Given the description of an element on the screen output the (x, y) to click on. 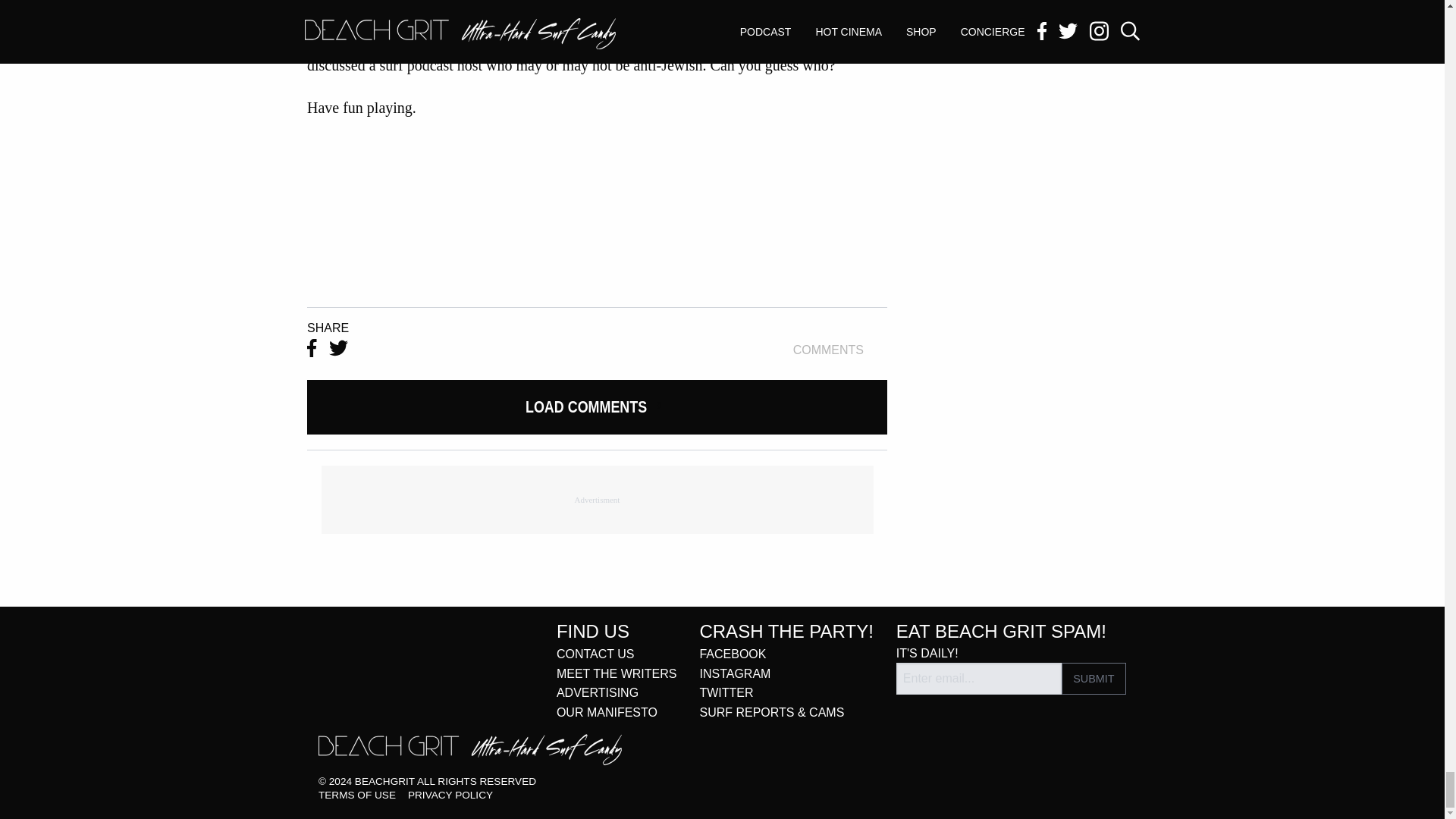
Submit (1093, 678)
BG-LOGO (469, 749)
